Given the description of an element on the screen output the (x, y) to click on. 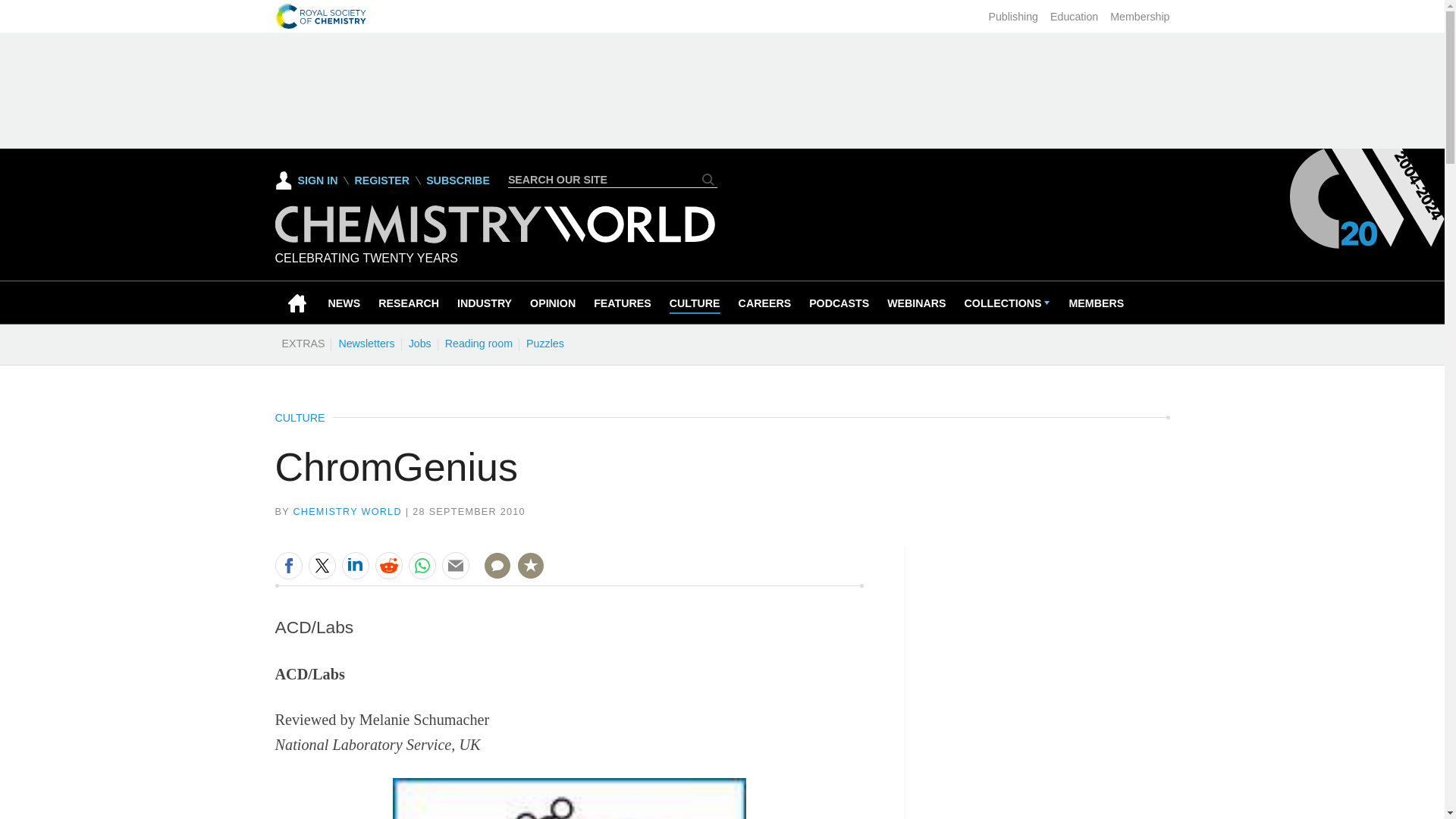
Membership (1139, 16)
NO COMMENTS (492, 574)
SIGN IN (306, 180)
Publishing (1013, 16)
Share this by email (454, 565)
Share this on Reddit (387, 565)
REGISTER (381, 180)
SUBSCRIBE (457, 180)
Newsletters (366, 343)
Share this on Facebook (288, 565)
